Given the description of an element on the screen output the (x, y) to click on. 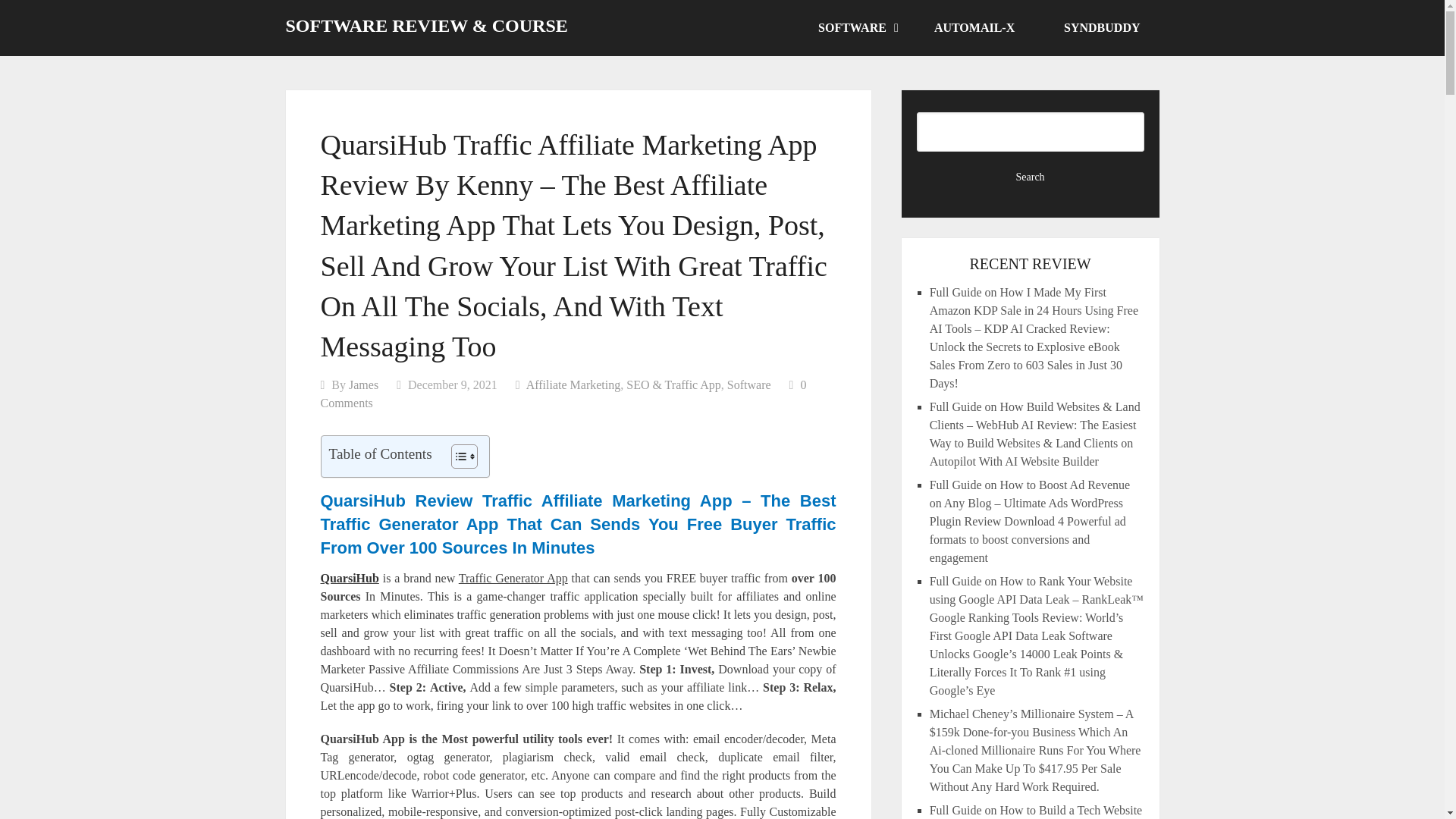
QuarsiHub (349, 577)
Affiliate Marketing (573, 384)
Search (1030, 176)
SYNDBUDDY (1101, 28)
0 Comments (563, 393)
Software (748, 384)
James (363, 384)
SOFTWARE (857, 28)
Posts by James (363, 384)
AUTOMAIL-X (980, 28)
